Given the description of an element on the screen output the (x, y) to click on. 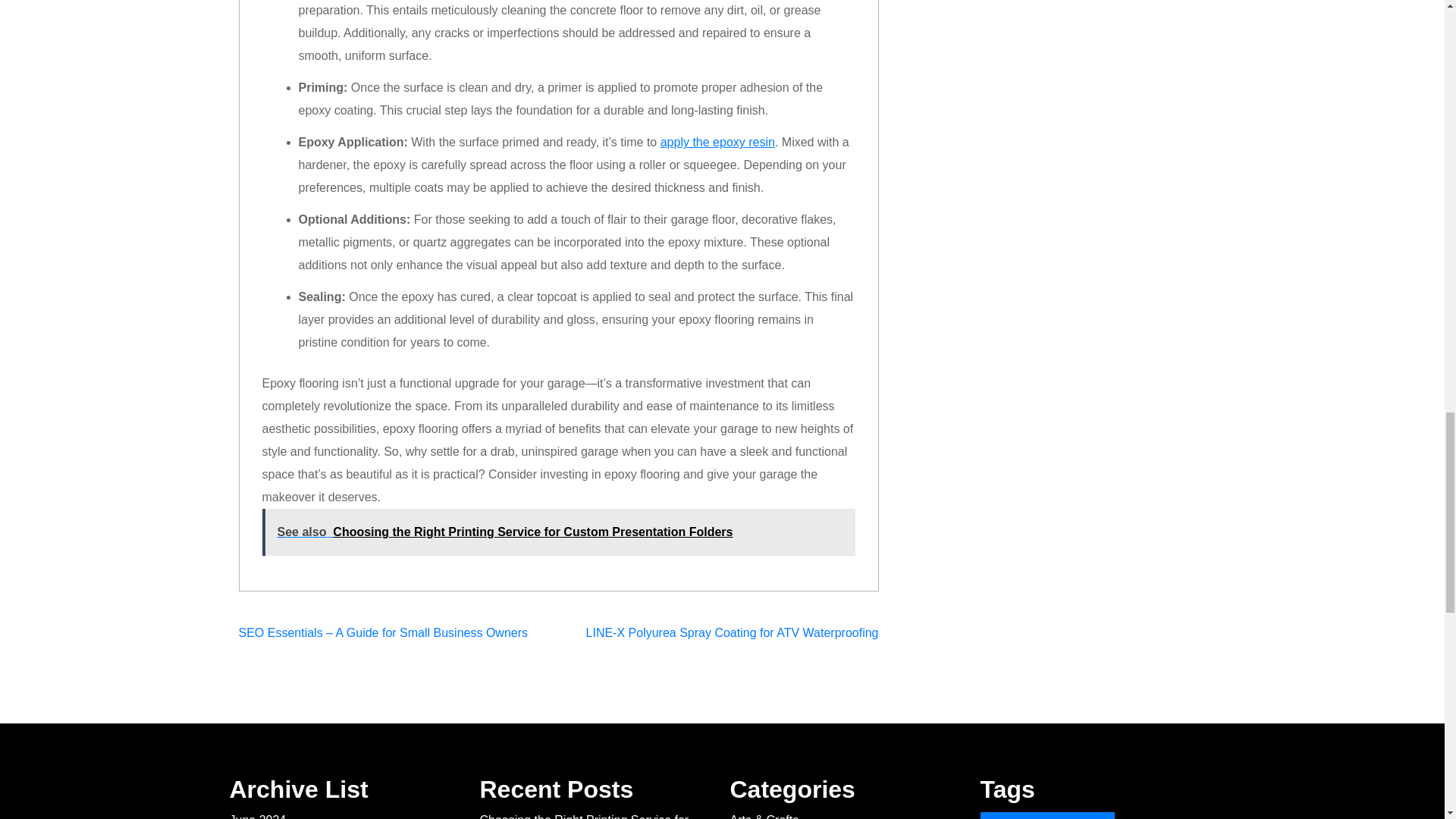
June 2024 (256, 816)
apply the epoxy resin (717, 141)
LINE-X Polyurea Spray Coating for ATV Waterproofing (732, 632)
